Given the description of an element on the screen output the (x, y) to click on. 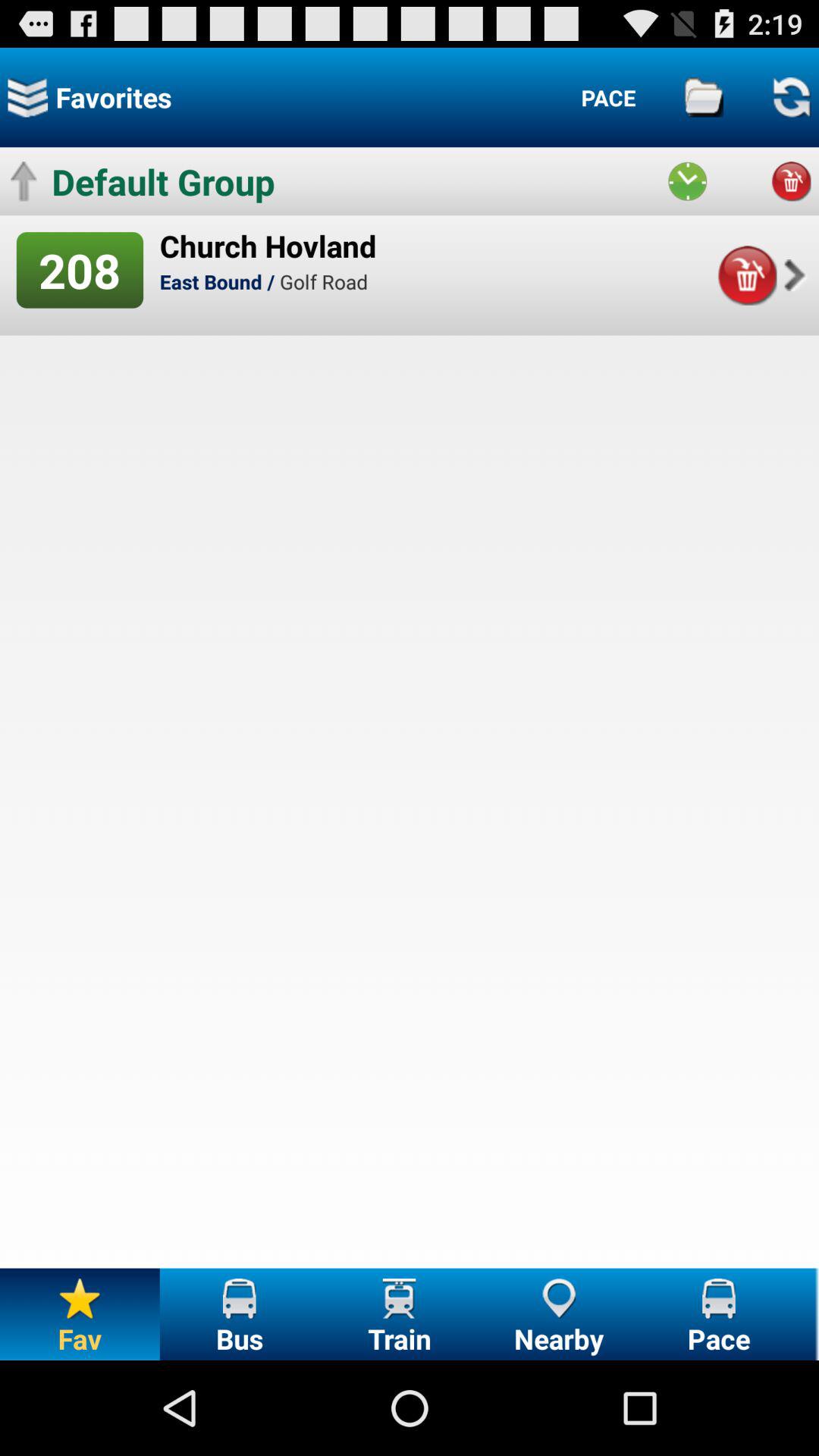
list favorites (27, 97)
